Given the description of an element on the screen output the (x, y) to click on. 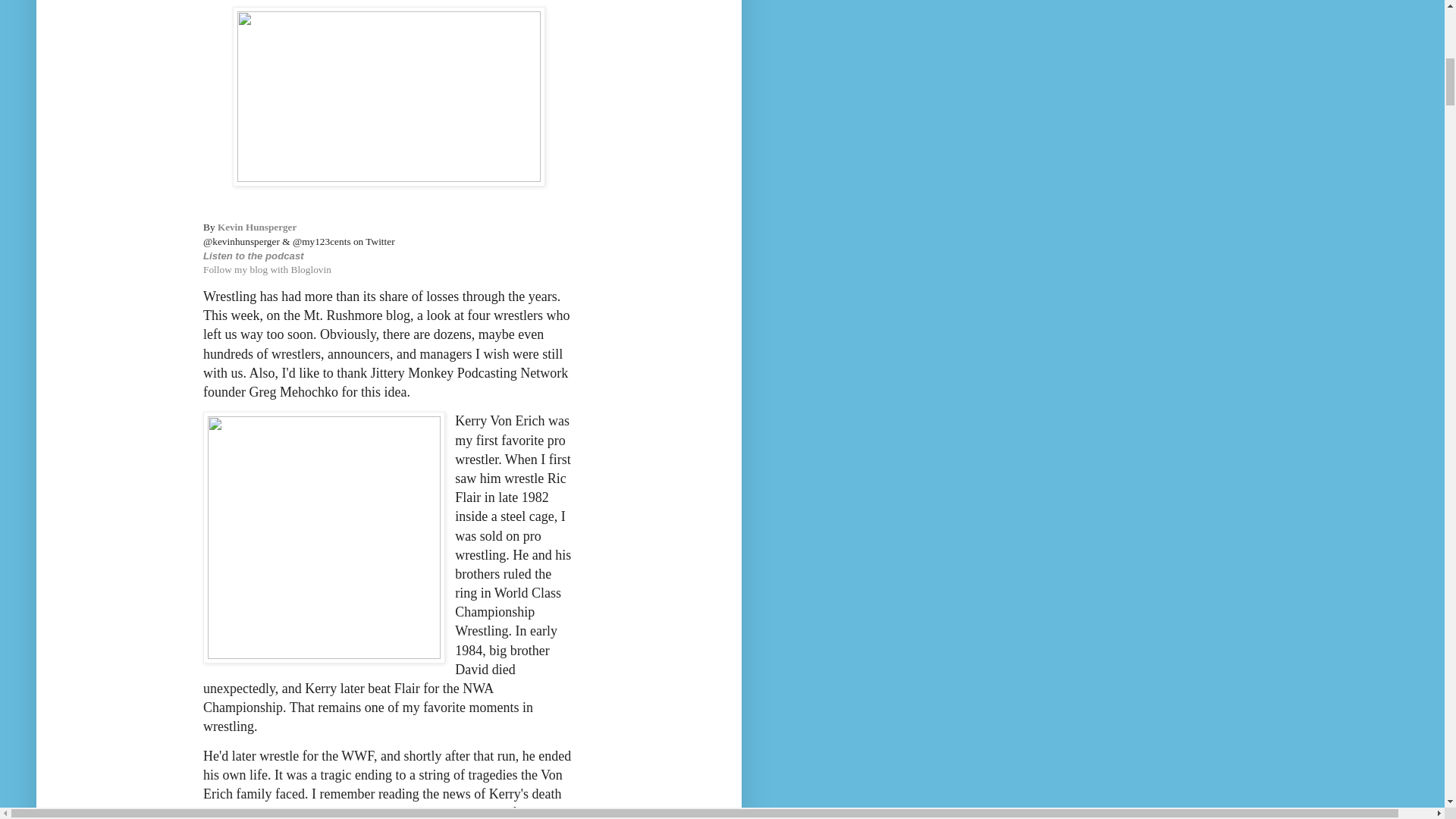
Kevin Hunsperger (256, 226)
Follow my blog with Bloglovin (267, 269)
Listen to the podcast (253, 255)
